Given the description of an element on the screen output the (x, y) to click on. 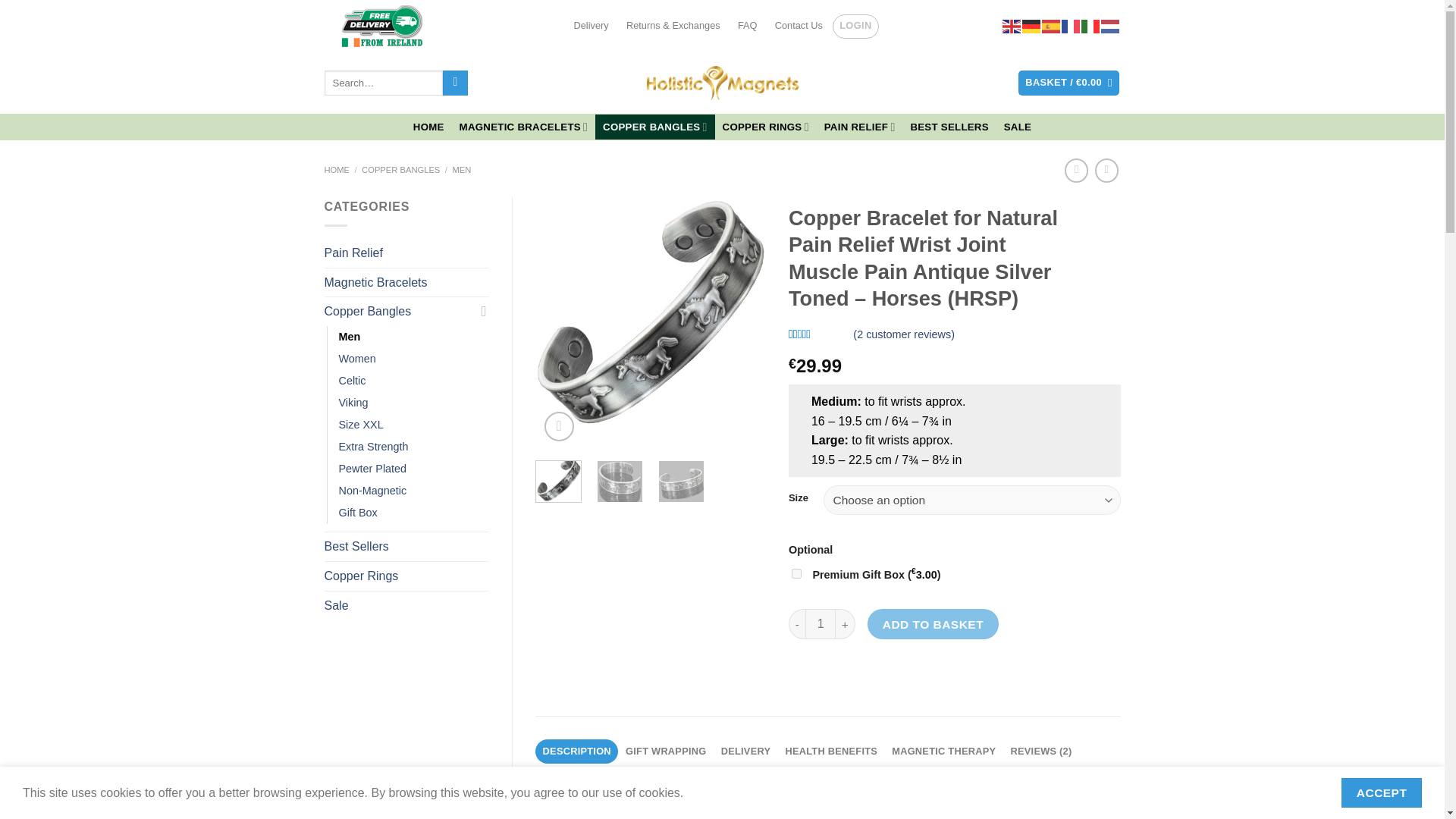
Wishlist (975, 83)
Zoom (558, 426)
Basket (1068, 82)
Italiano (1090, 25)
COPPER BANGLES (654, 126)
on (797, 573)
MAGNETIC BRACELETS (523, 126)
MY WISHLIST (975, 83)
Holistic Magnets - The best magnetic bracelets money can buy (721, 82)
FAQ (747, 26)
HOME (428, 126)
Deutsch (1032, 25)
PAIN RELIEF (859, 126)
LOGIN (854, 25)
COPPER RINGS (765, 126)
